Given the description of an element on the screen output the (x, y) to click on. 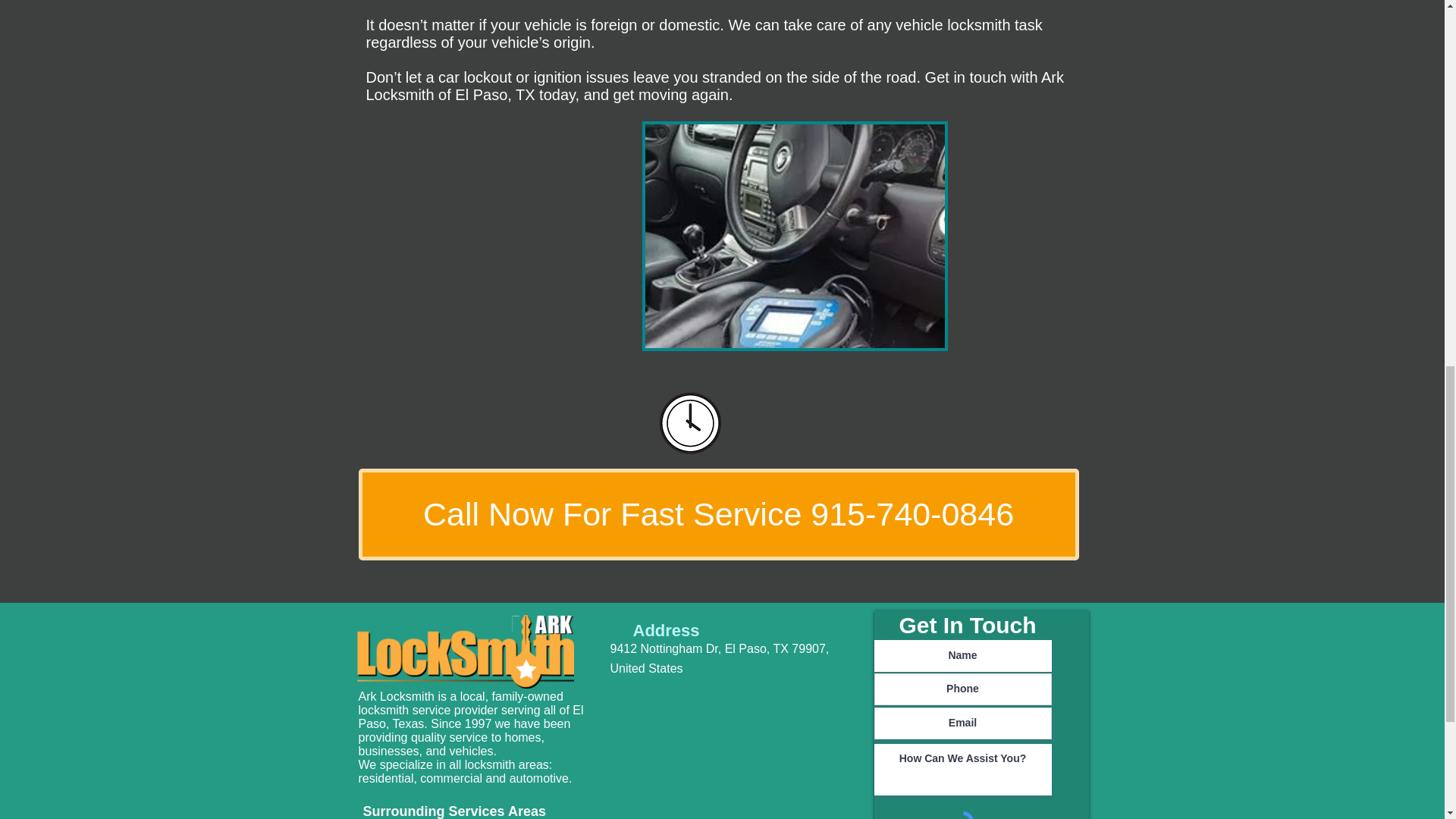
Call Now For Fast Service 915-740-0846 (718, 514)
